Given the description of an element on the screen output the (x, y) to click on. 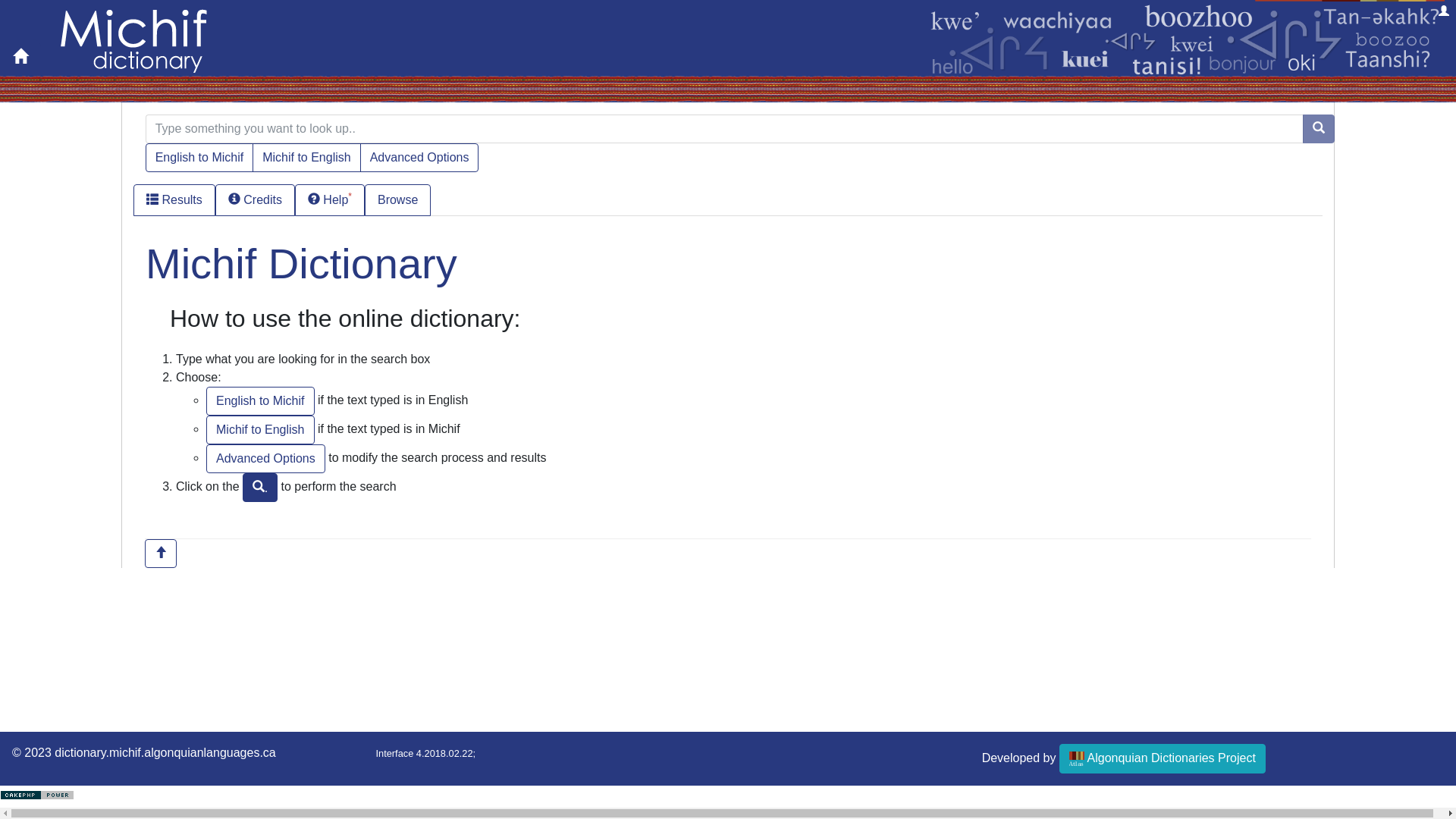
Browse Element type: text (397, 200)
Help* Element type: text (329, 200)
Credits Element type: text (254, 200)
Algonquian Dictionaries Project Element type: text (1162, 758)
top of page Element type: hover (160, 553)
Results Element type: text (174, 200)
. Element type: text (259, 487)
